Given the description of an element on the screen output the (x, y) to click on. 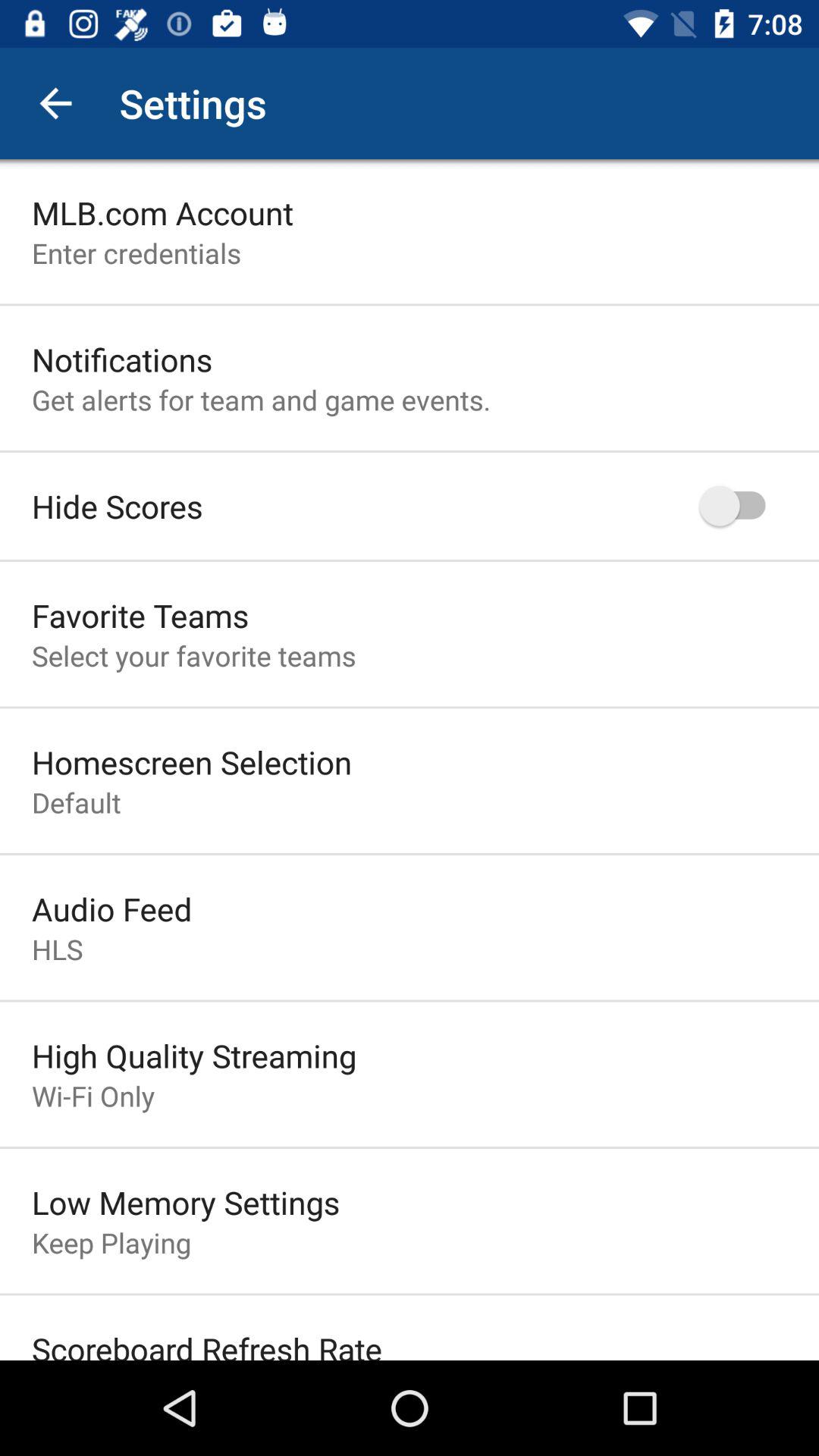
tap the icon below notifications icon (260, 399)
